Given the description of an element on the screen output the (x, y) to click on. 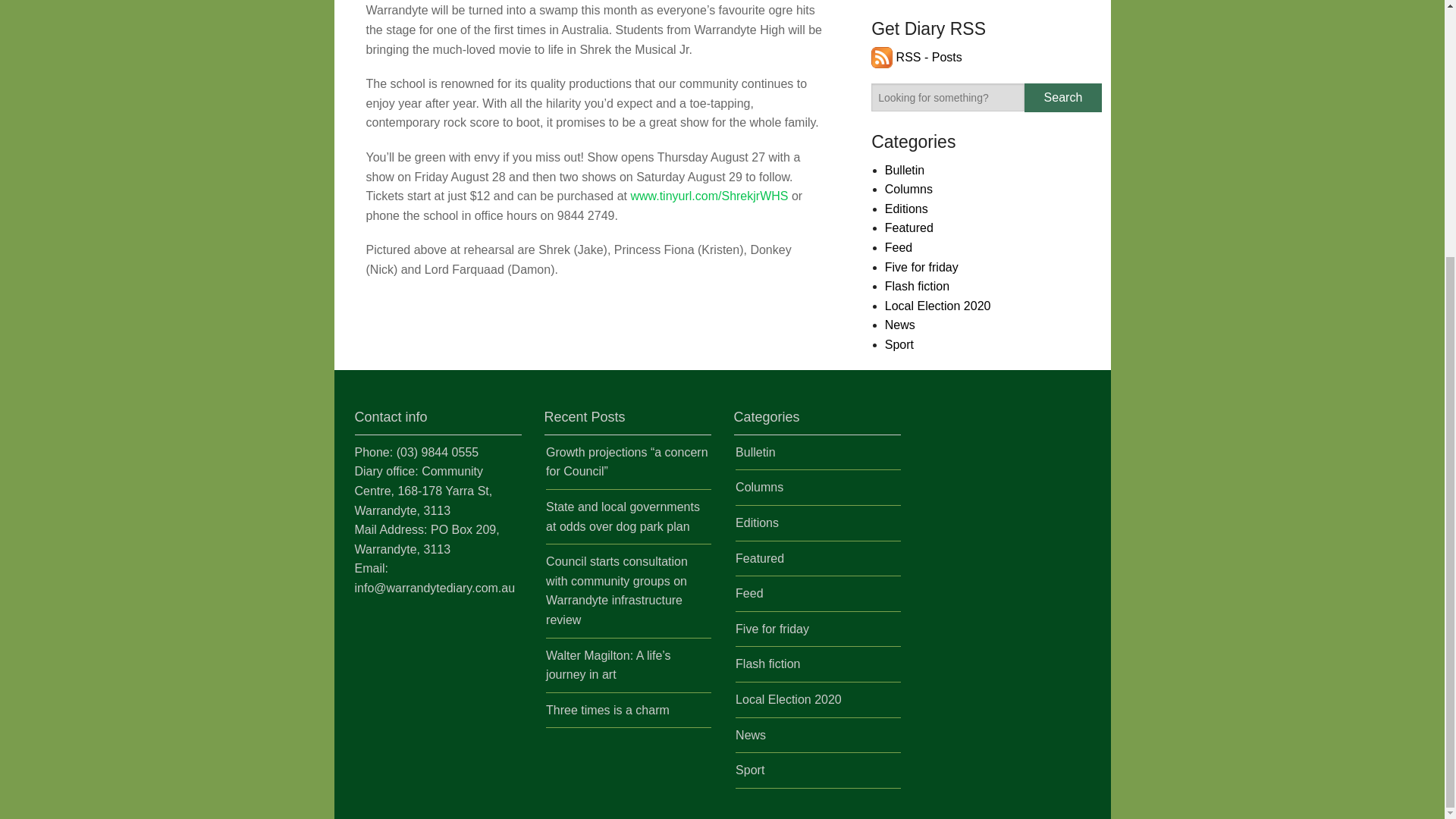
Search (1062, 97)
Columns (759, 486)
 RSS - Posts (916, 56)
Feed (748, 593)
Feed (898, 246)
Editions (756, 522)
State and local governments at odds over dog park plan (623, 516)
Local Election 2020 (938, 305)
Subscribe to posts (916, 56)
Five for friday (921, 267)
Local Election 2020 (788, 698)
Three times is a charm (607, 709)
Bulletin (904, 169)
Editions (906, 208)
